Given the description of an element on the screen output the (x, y) to click on. 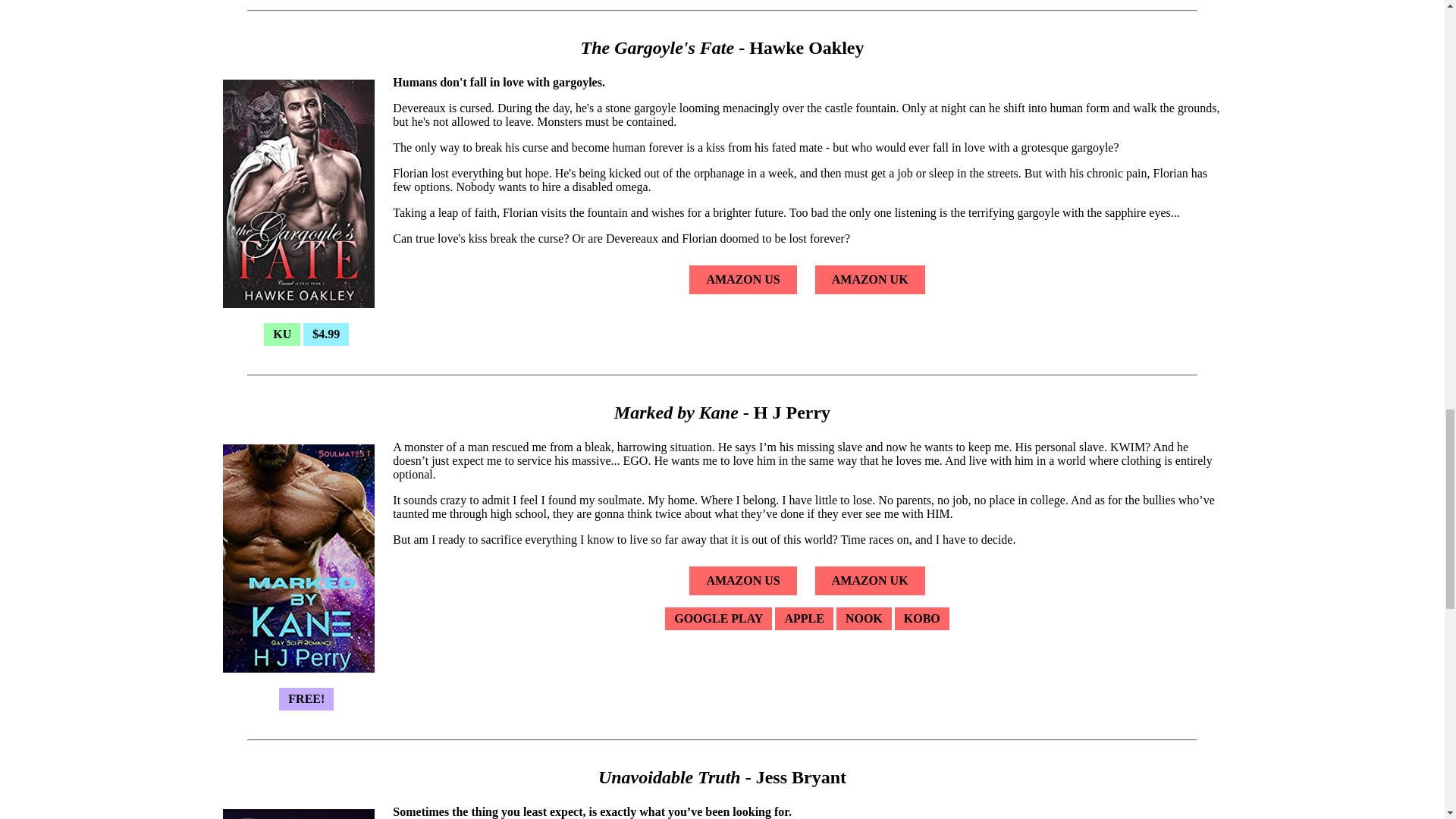
APPLE (803, 617)
GOOGLE PLAY (718, 617)
AMAZON UK (870, 278)
AMAZON US (742, 580)
NOOK (863, 617)
AMAZON US (742, 278)
AMAZON UK (870, 580)
KOBO (922, 617)
